Given the description of an element on the screen output the (x, y) to click on. 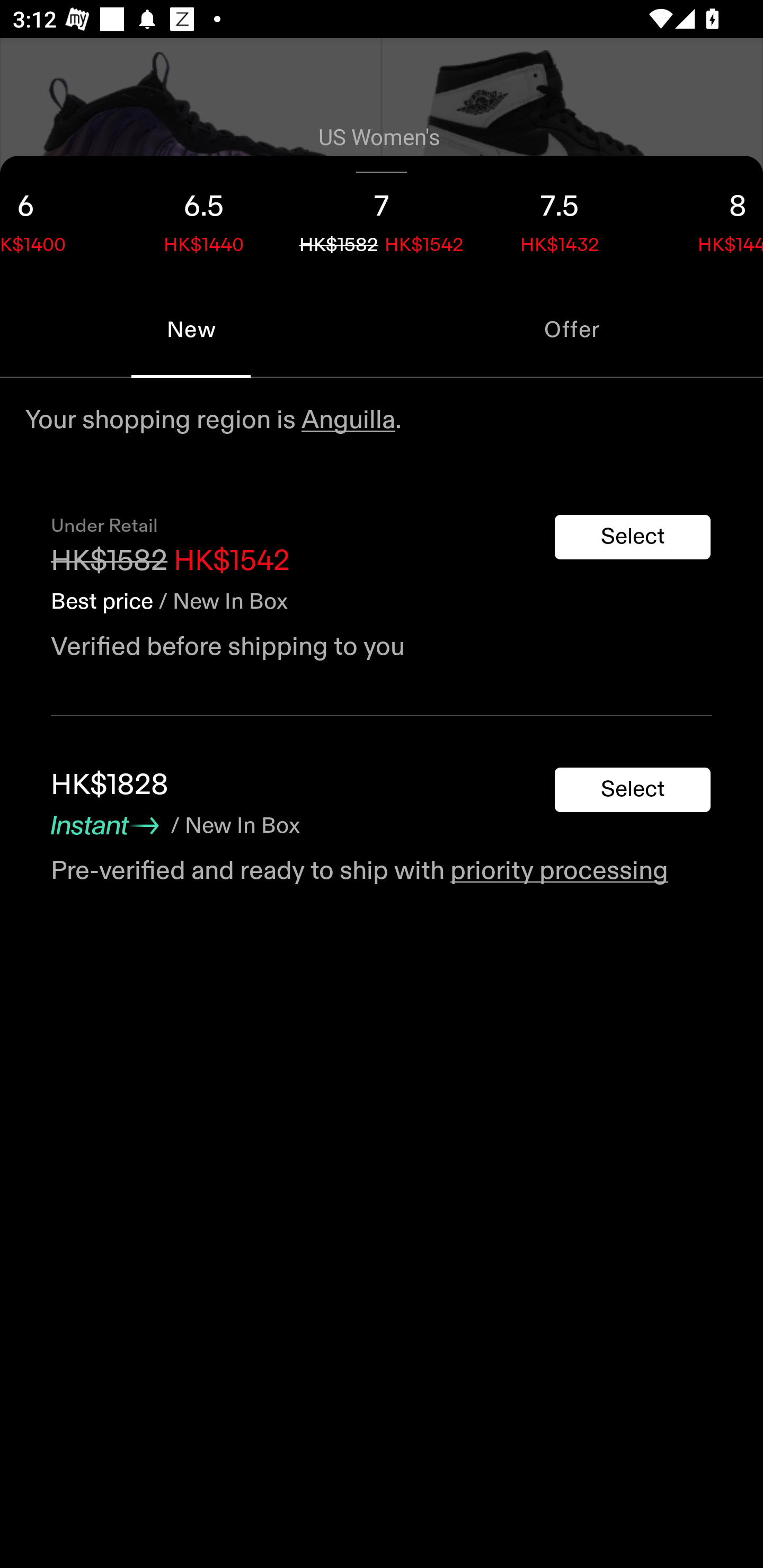
6 HK$1400 (57, 218)
6.5 HK$1440 (203, 218)
7 HK$1582 HK$1542 (381, 218)
7.5 HK$1432 (559, 218)
8 HK$1440 (705, 218)
Offer (572, 329)
See More (381, 340)
Select (632, 536)
HK$1828 (109, 785)
Select (632, 789)
